Given the description of an element on the screen output the (x, y) to click on. 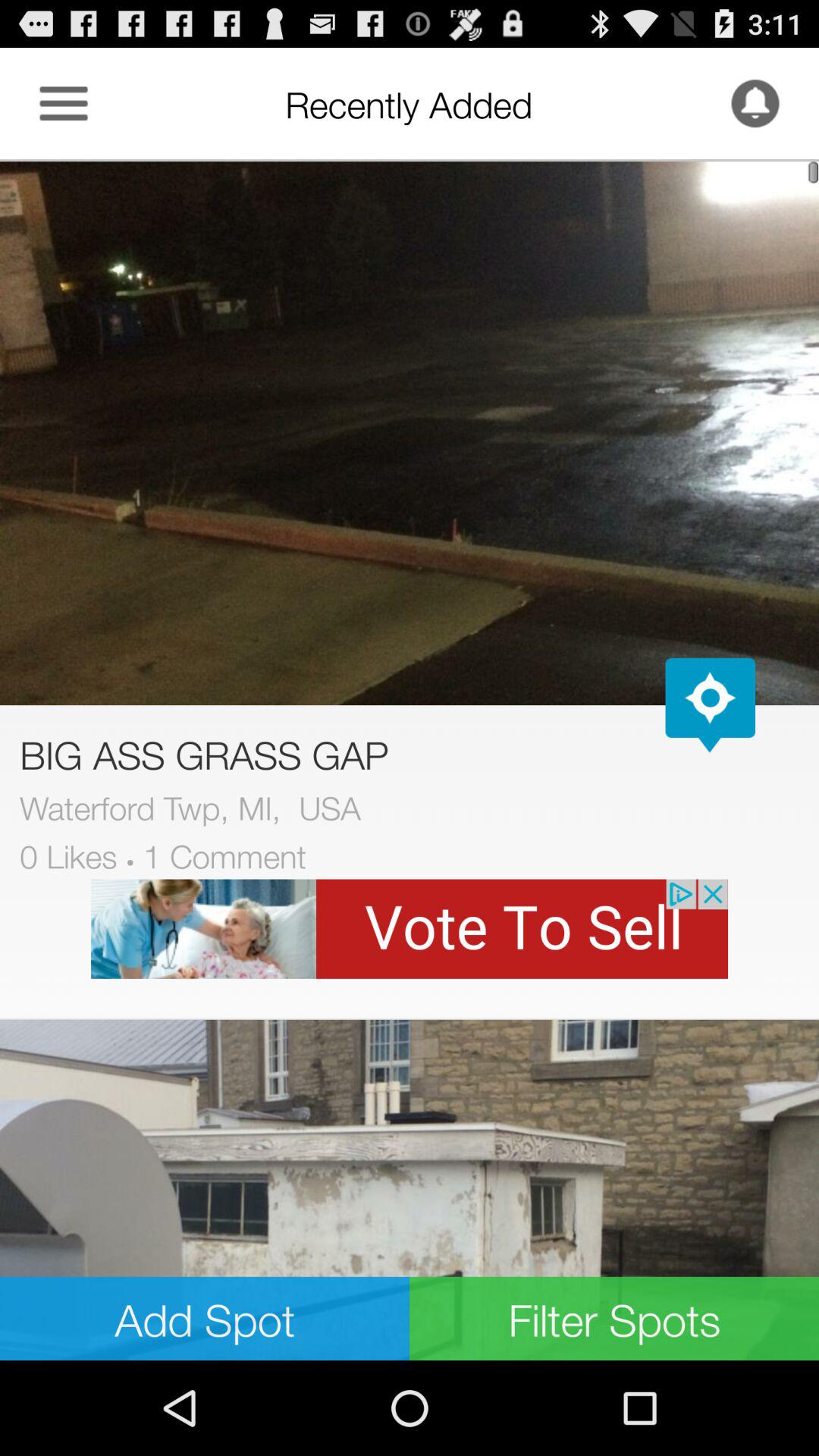
switch notification option (755, 103)
